Given the description of an element on the screen output the (x, y) to click on. 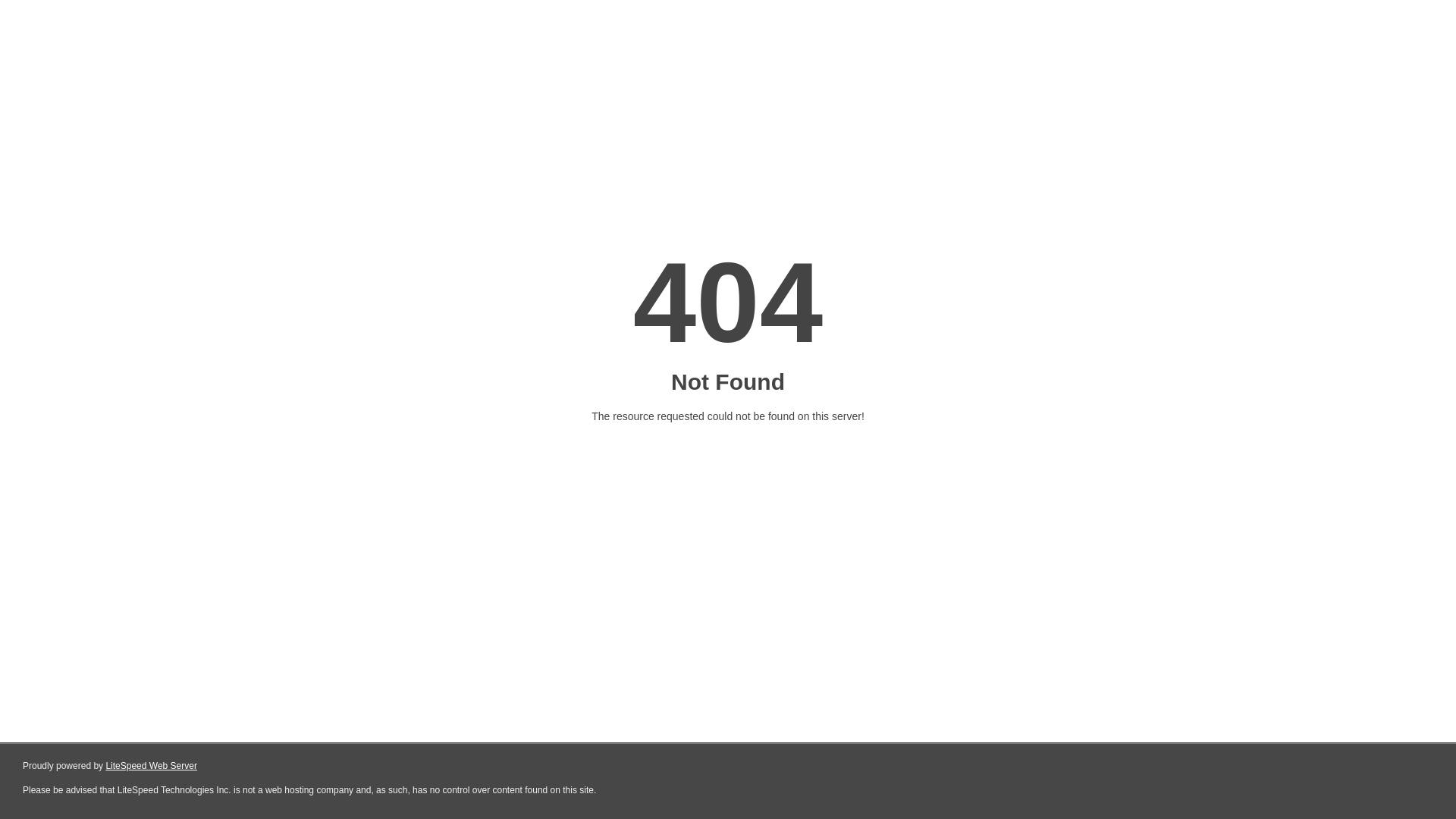
LiteSpeed Web Server Element type: text (151, 765)
